Given the description of an element on the screen output the (x, y) to click on. 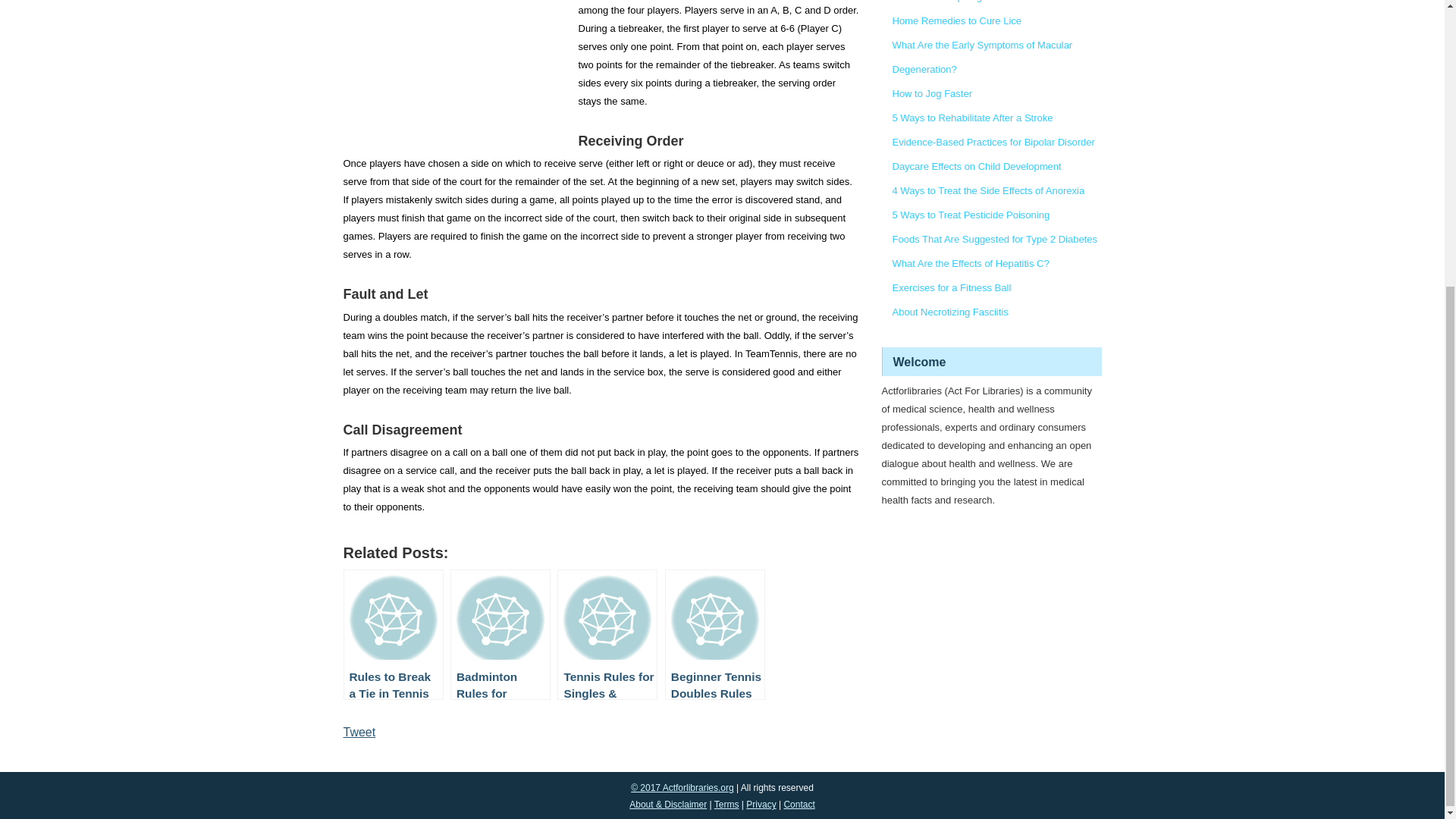
Evidence-Based Practices for Bipolar Disorder (992, 142)
Daycare Effects on Child Development (976, 165)
Home Remedies to Cure Lice (956, 20)
5 Ways to Rehabilitate After a Stroke (971, 117)
How to Build Up Leg Muscles as a Bike Rider (990, 1)
How to Jog Faster (931, 93)
Exercises for a Fitness Ball (950, 287)
5 Ways to Treat Pesticide Poisoning (970, 214)
What Are the Effects of Hepatitis C? (969, 263)
What Are the Early Symptoms of Macular Degeneration? (981, 57)
About Necrotizing Fasciitis (949, 311)
How to Build Up Leg Muscles as a Bike Rider (990, 1)
4 Ways to Treat the Side Effects of Anorexia (987, 190)
What Are the Early Symptoms of Macular Degeneration? (981, 57)
Home Remedies to Cure Lice (956, 20)
